Given the description of an element on the screen output the (x, y) to click on. 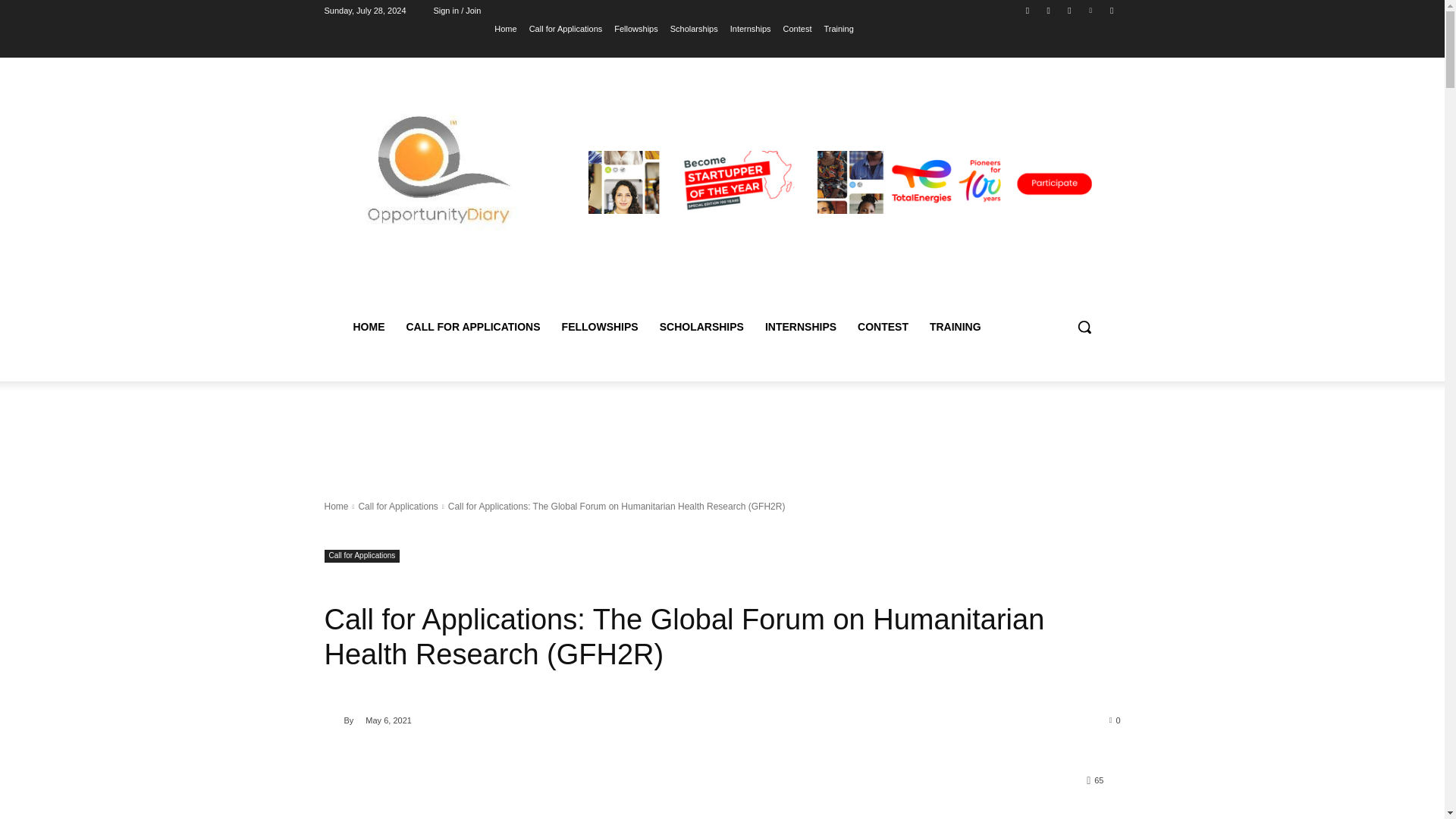
Home (336, 506)
Contest (797, 28)
Facebook (1027, 9)
Youtube (1112, 9)
Home (505, 28)
Call for Applications (398, 506)
CONTEST (882, 326)
Call for Applications (565, 28)
Call for Applications (362, 555)
Twitter (1069, 9)
Training (838, 28)
Scholarships (693, 28)
CALL FOR APPLICATIONS (473, 326)
FELLOWSHIPS (600, 326)
Vimeo (1090, 9)
